Given the description of an element on the screen output the (x, y) to click on. 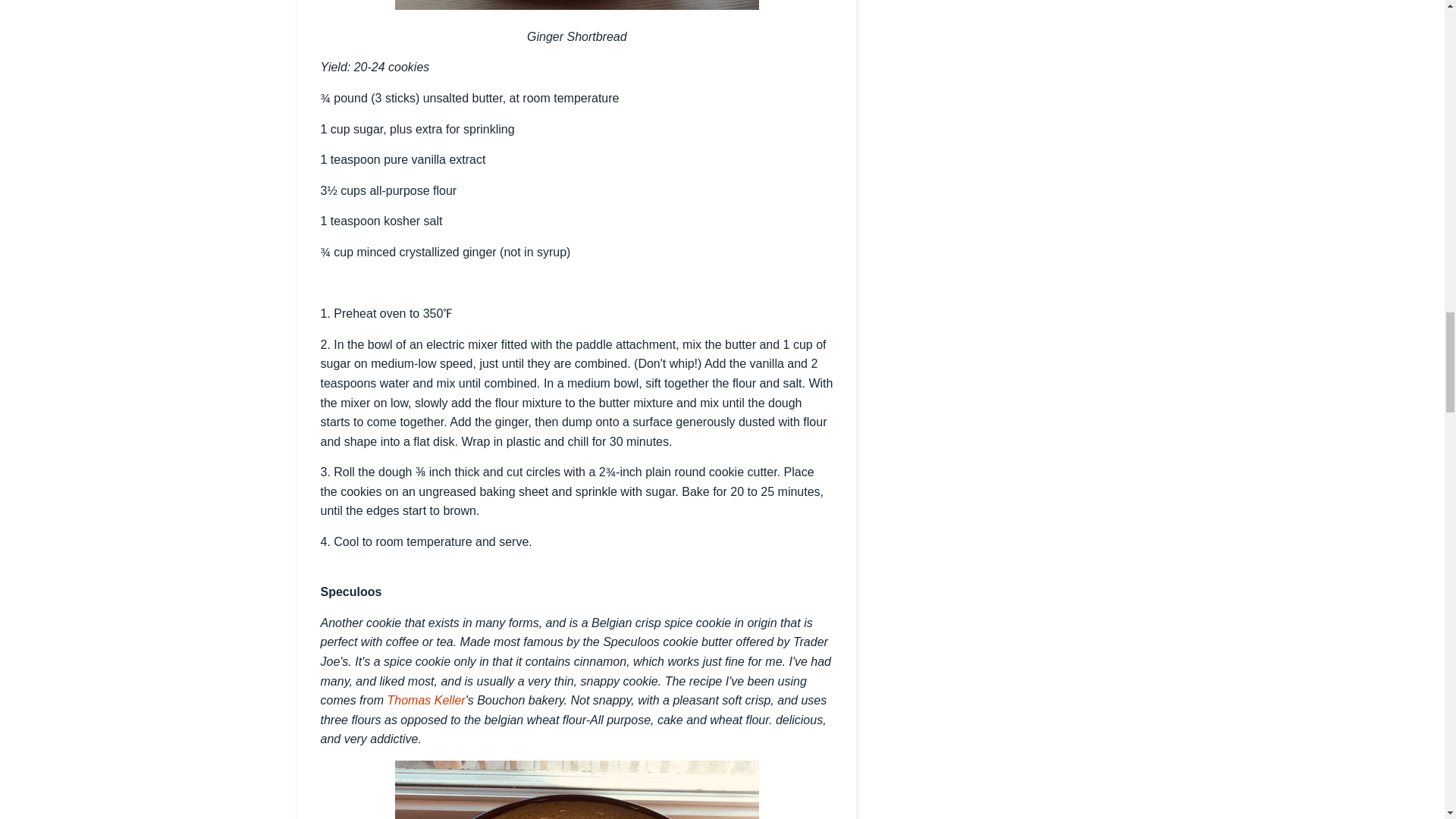
Thomas Keller (426, 699)
